Given the description of an element on the screen output the (x, y) to click on. 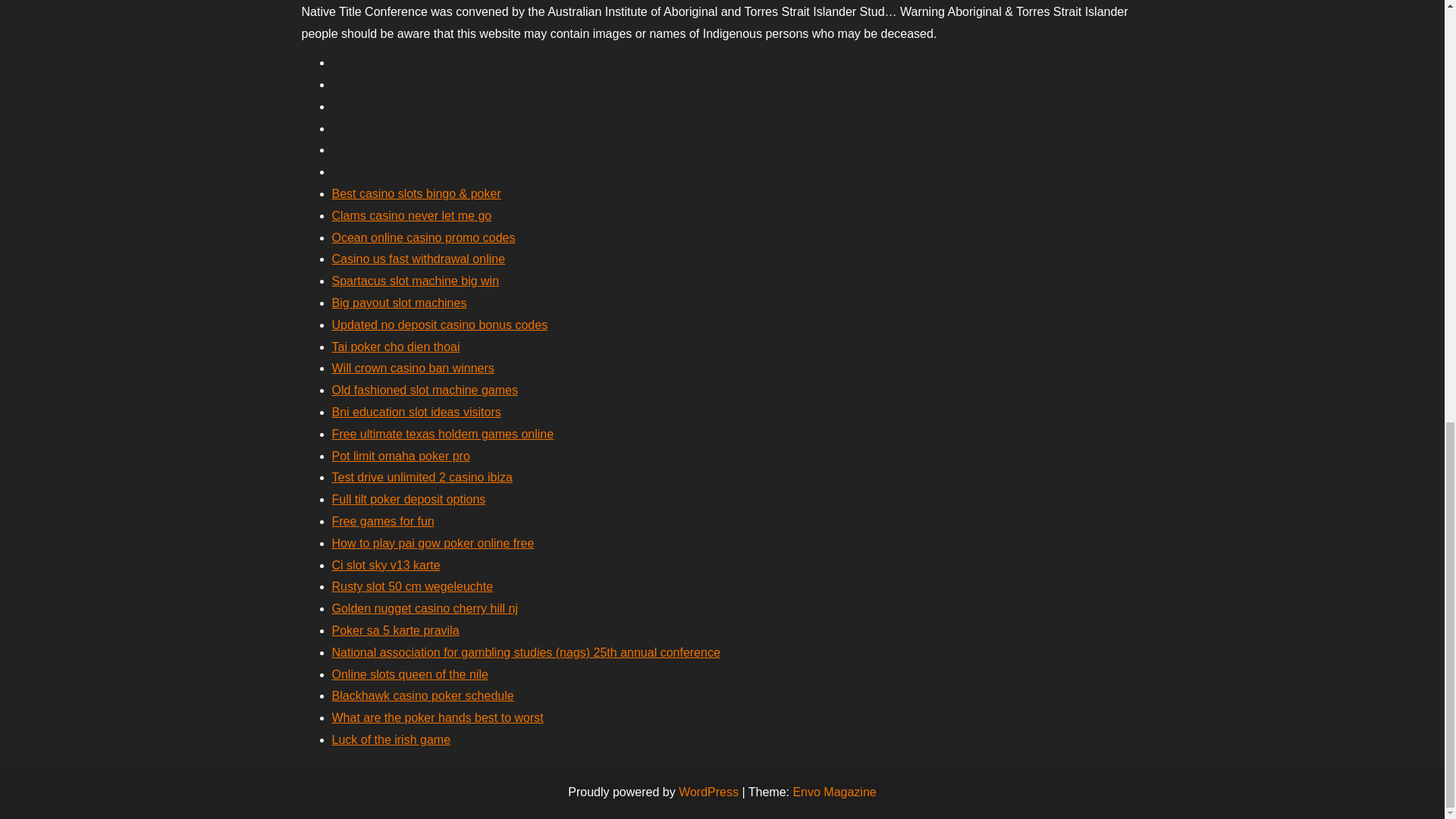
Ci slot sky v13 karte (386, 564)
Bni education slot ideas visitors (415, 411)
Tai poker cho dien thoai (395, 346)
Clams casino never let me go (411, 215)
Golden nugget casino cherry hill nj (424, 608)
Full tilt poker deposit options (408, 499)
Test drive unlimited 2 casino ibiza (421, 477)
Pot limit omaha poker pro (400, 455)
Online slots queen of the nile (409, 674)
Old fashioned slot machine games (424, 390)
Envo Magazine (834, 791)
Spartacus slot machine big win (415, 280)
Blackhawk casino poker schedule (422, 695)
Poker sa 5 karte pravila (395, 630)
Free games for fun (382, 521)
